Given the description of an element on the screen output the (x, y) to click on. 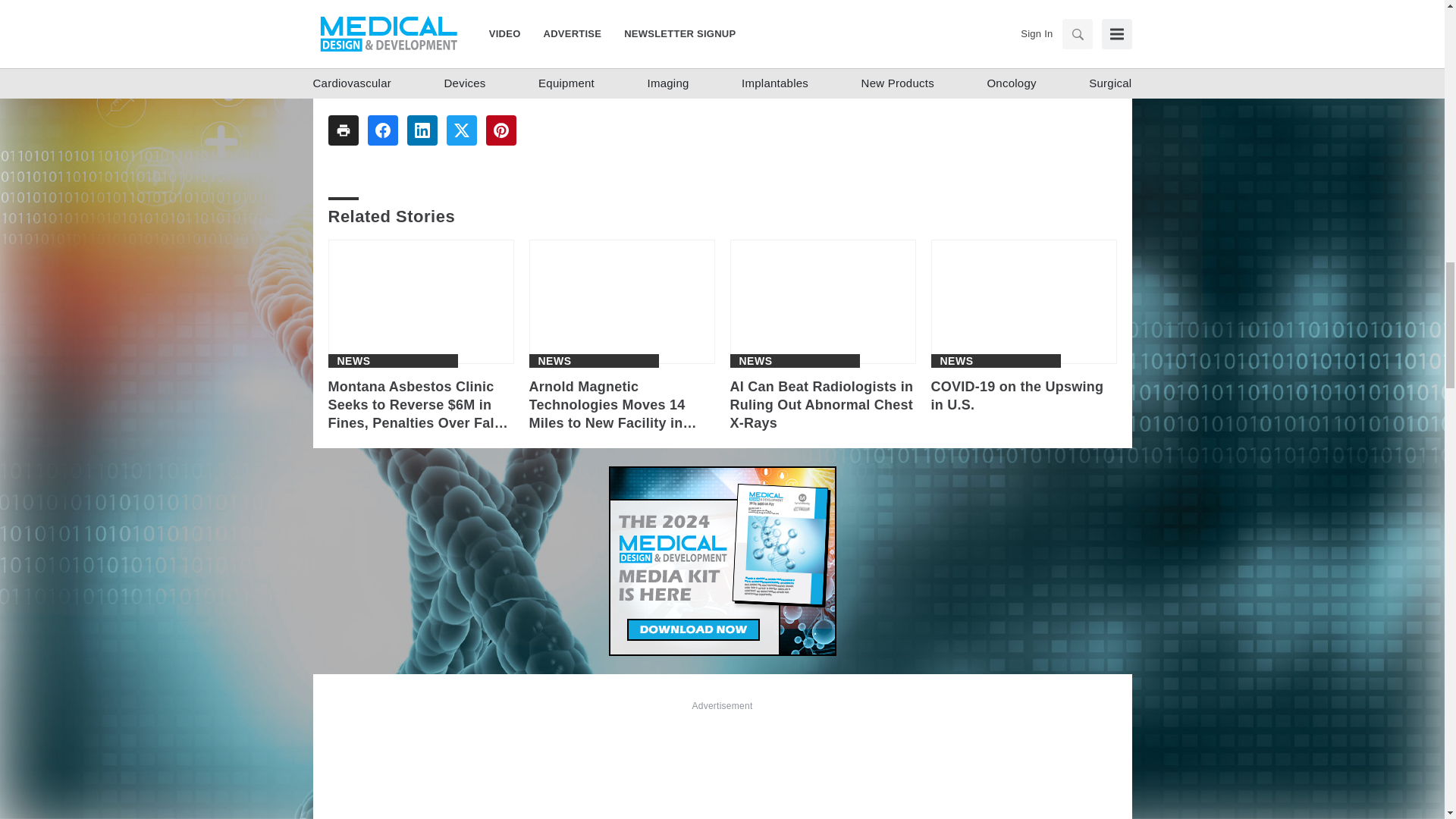
Share To print (342, 130)
Share To linkedin (421, 130)
News (352, 360)
Share To twitter (460, 130)
Share To facebook (381, 130)
Share To pinterest (499, 130)
